Given the description of an element on the screen output the (x, y) to click on. 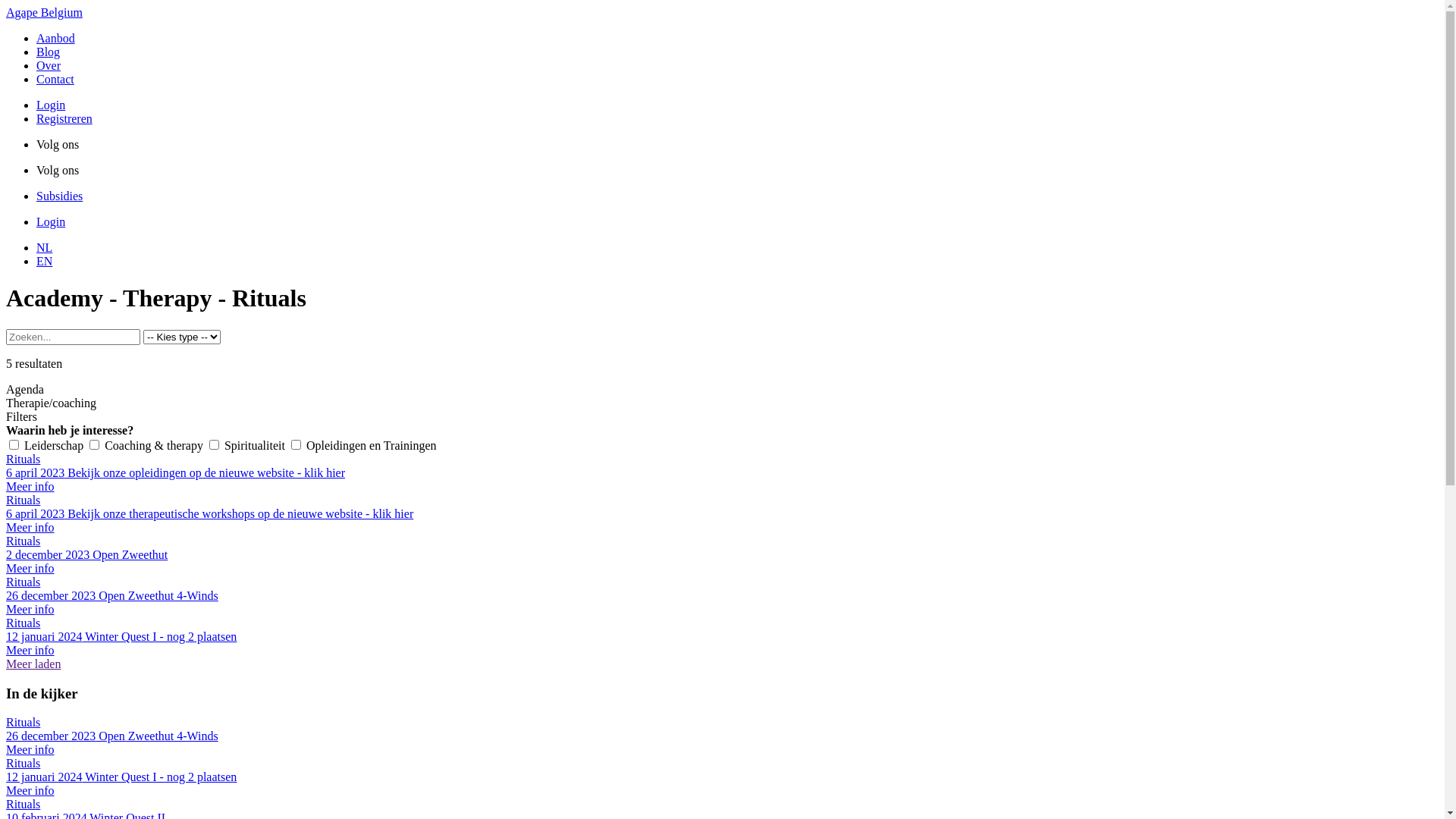
EN Element type: text (44, 260)
NL Element type: text (44, 247)
Login Element type: text (50, 221)
Over Element type: text (48, 65)
Rituals
2 december 2023 Open Zweethut
Meer info Element type: text (722, 554)
Rituals
26 december 2023 Open Zweethut 4-Winds
Meer info Element type: text (722, 735)
Meer laden Element type: text (33, 663)
Agape Belgium Element type: text (44, 12)
Login Element type: text (50, 104)
Registreren Element type: text (64, 118)
Subsidies Element type: text (59, 195)
Blog Element type: text (47, 51)
Aanbod Element type: text (55, 37)
Contact Element type: text (55, 78)
Rituals
26 december 2023 Open Zweethut 4-Winds
Meer info Element type: text (722, 595)
